Given the description of an element on the screen output the (x, y) to click on. 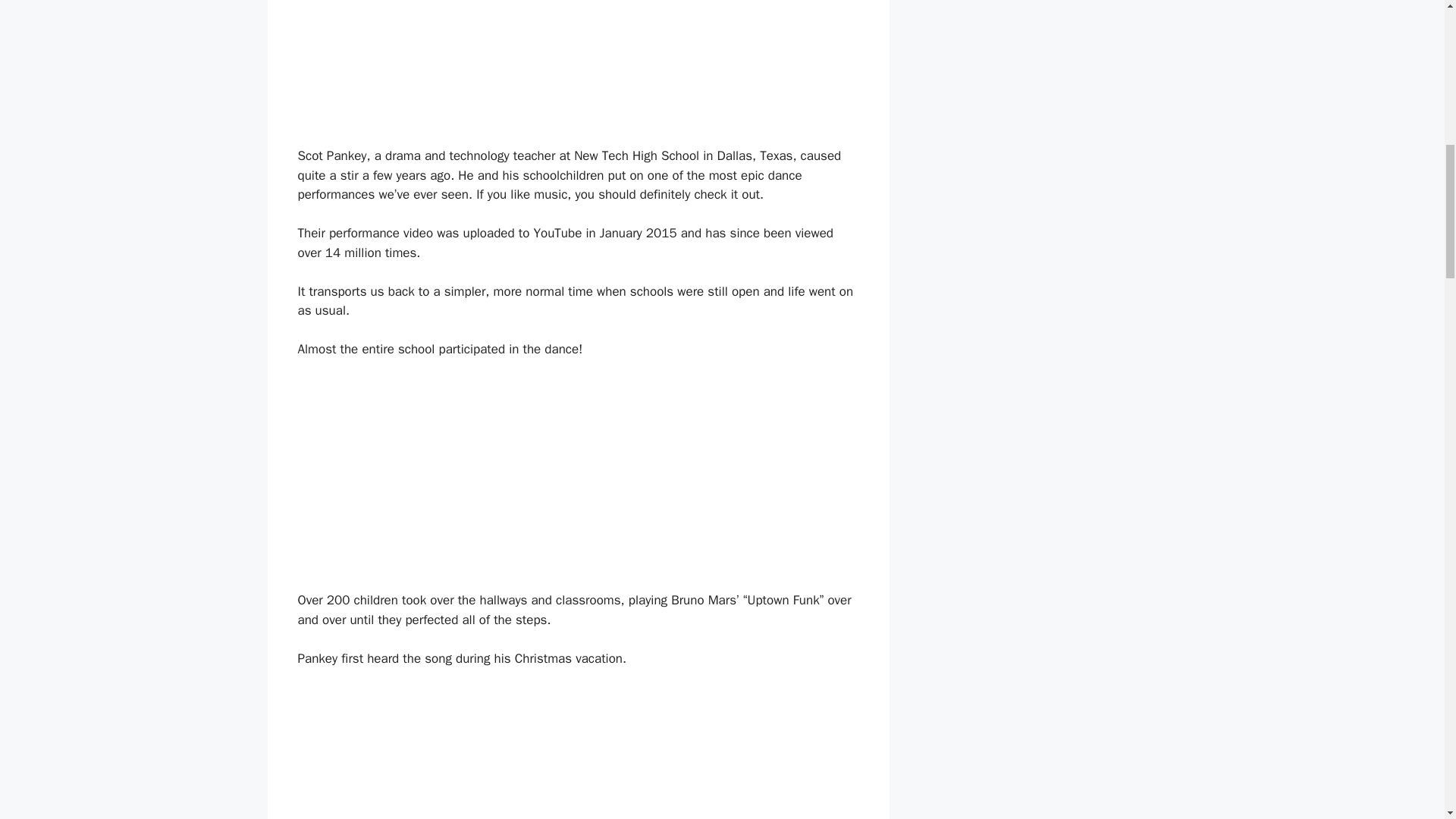
Advertisement (578, 484)
Advertisement (576, 67)
Advertisement (1040, 49)
